Given the description of an element on the screen output the (x, y) to click on. 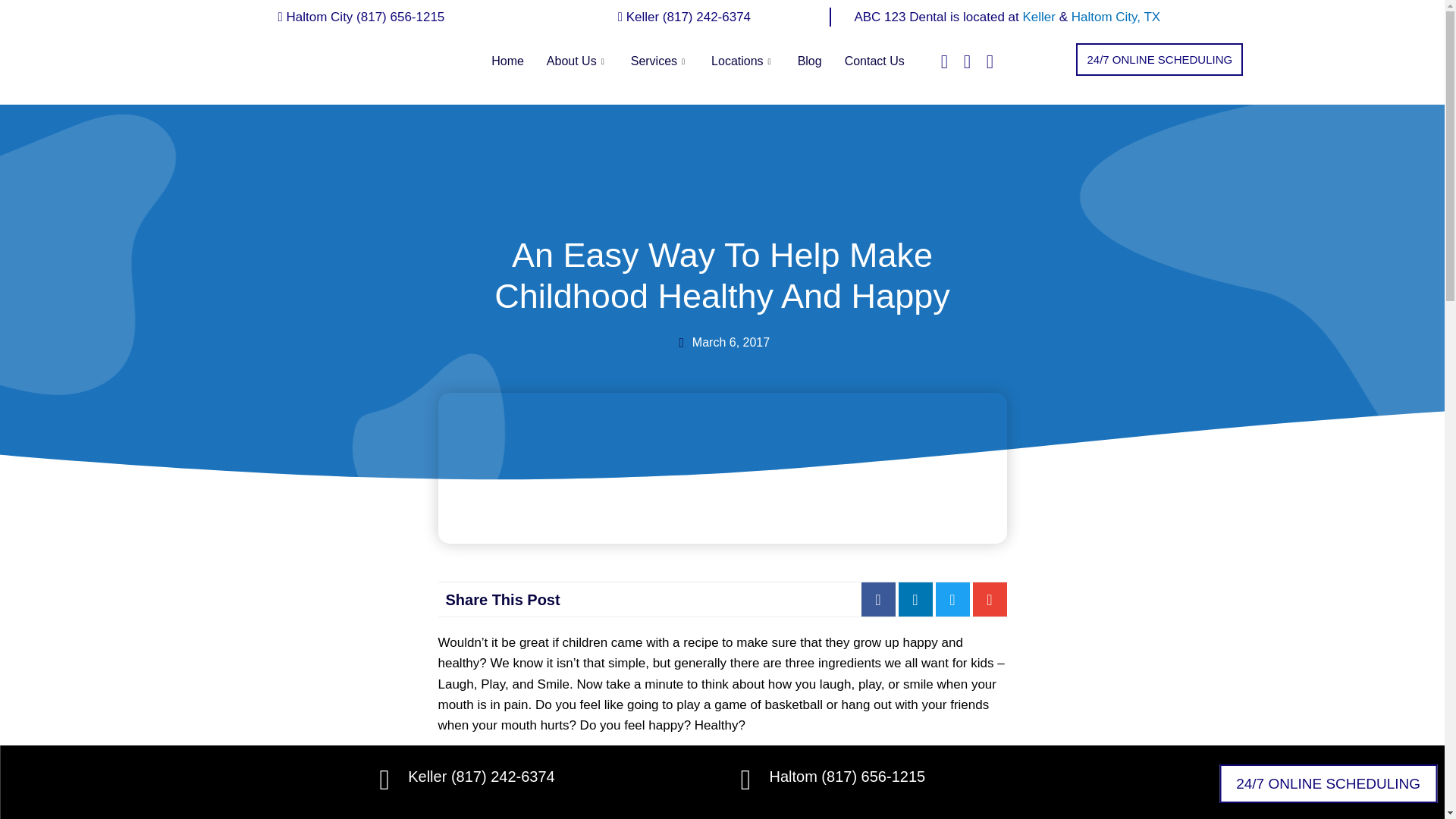
Keller (1040, 16)
About Us (577, 60)
Twitter (967, 61)
Contact Us (873, 60)
Blog (809, 60)
Facebook-square (943, 61)
Locations (743, 60)
Services (660, 60)
Haltom City, TX (1115, 16)
Home (507, 60)
Instagram (988, 61)
